Given the description of an element on the screen output the (x, y) to click on. 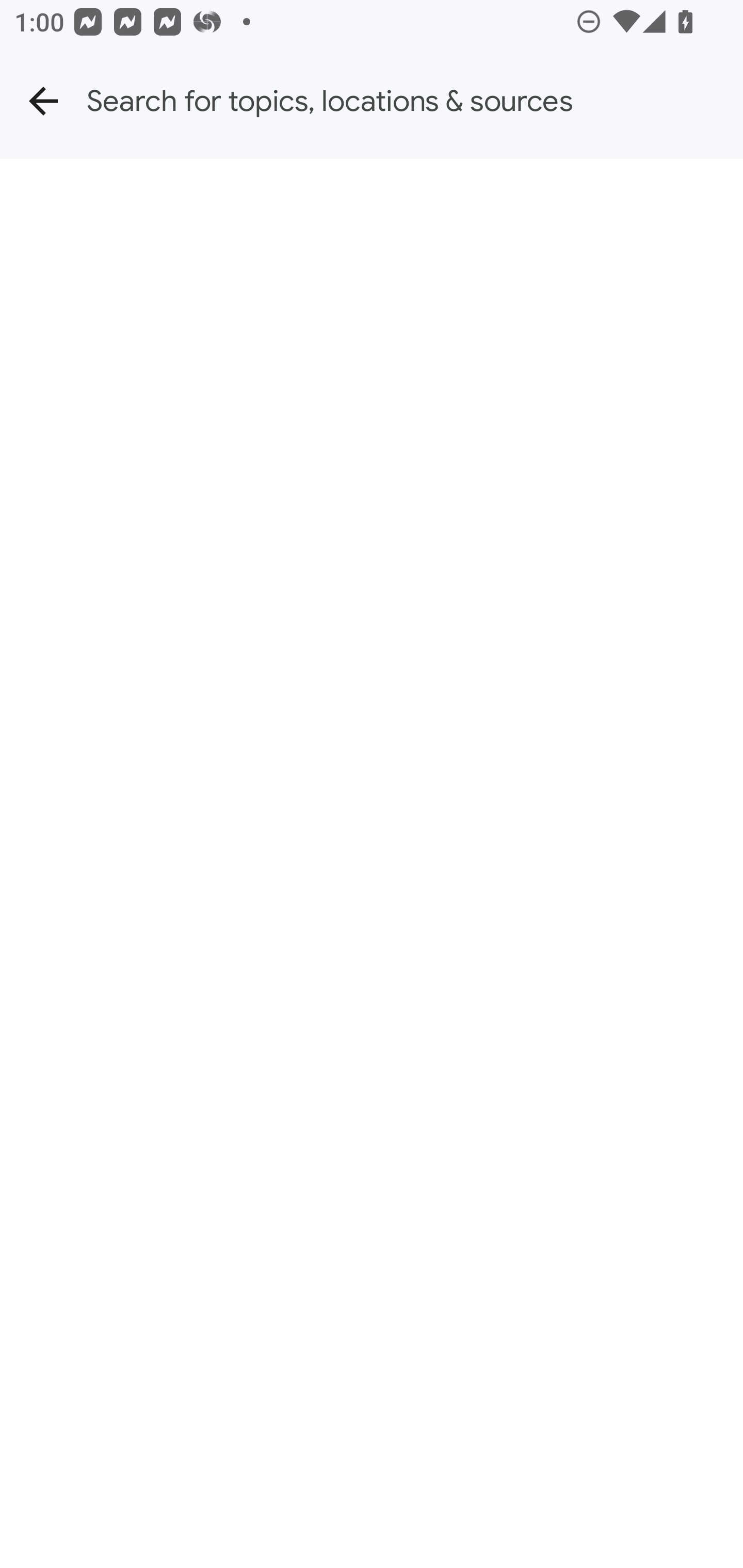
Back (43, 101)
Search for topics, locations & sources (414, 101)
